Given the description of an element on the screen output the (x, y) to click on. 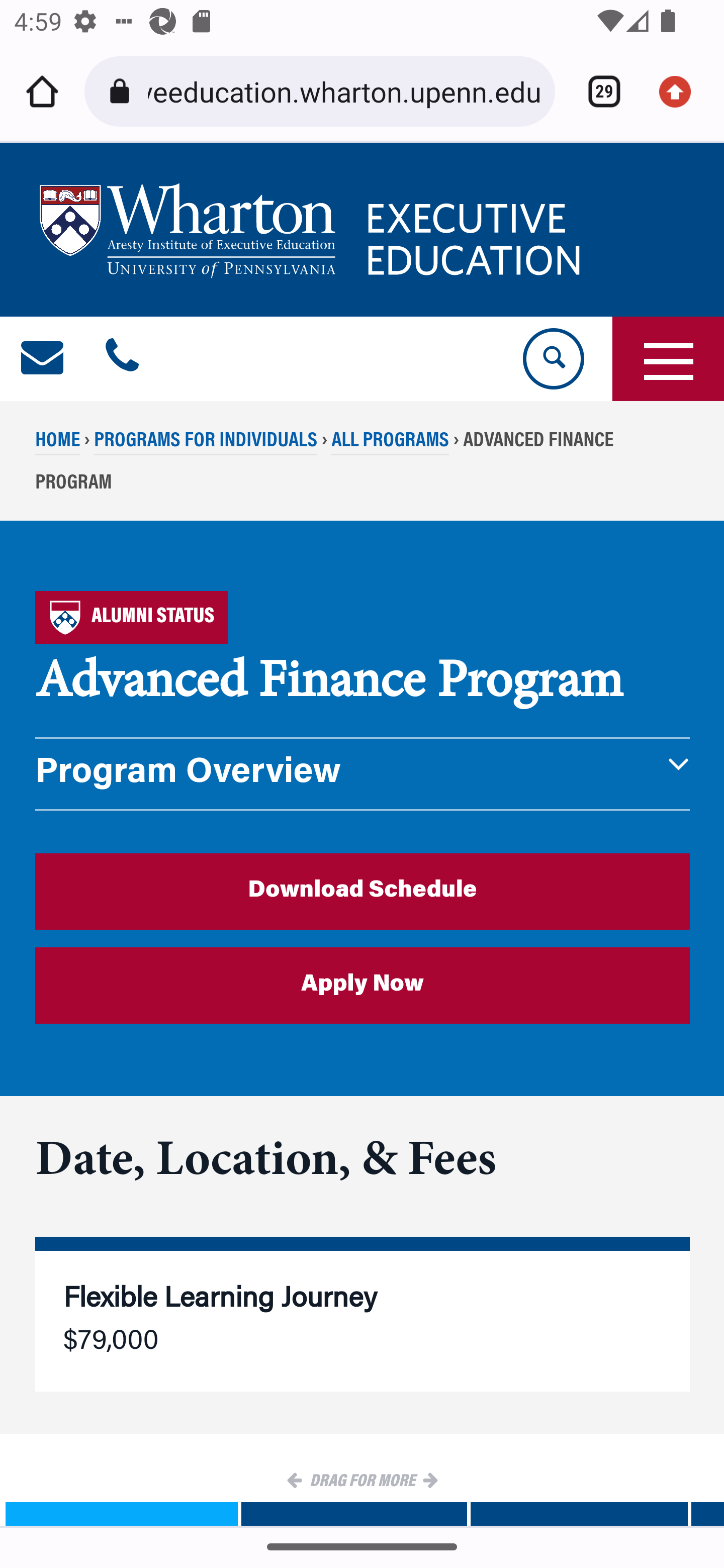
Home (42, 91)
Connection is secure (122, 91)
Switch or close tabs (597, 91)
Update available. More options (681, 91)
Wharton Executive Education (313, 230)
 (43, 358)
 (122, 358)
Mobile menu toggle (668, 358)
 Search Wharton  (552, 358)
HOME (58, 441)
PROGRAMS FOR INDIVIDUALS (205, 441)
ALL PROGRAMS (390, 441)
Program Overview  (362, 774)
Download Schedule (363, 890)
Apply Now (363, 986)
